Given the description of an element on the screen output the (x, y) to click on. 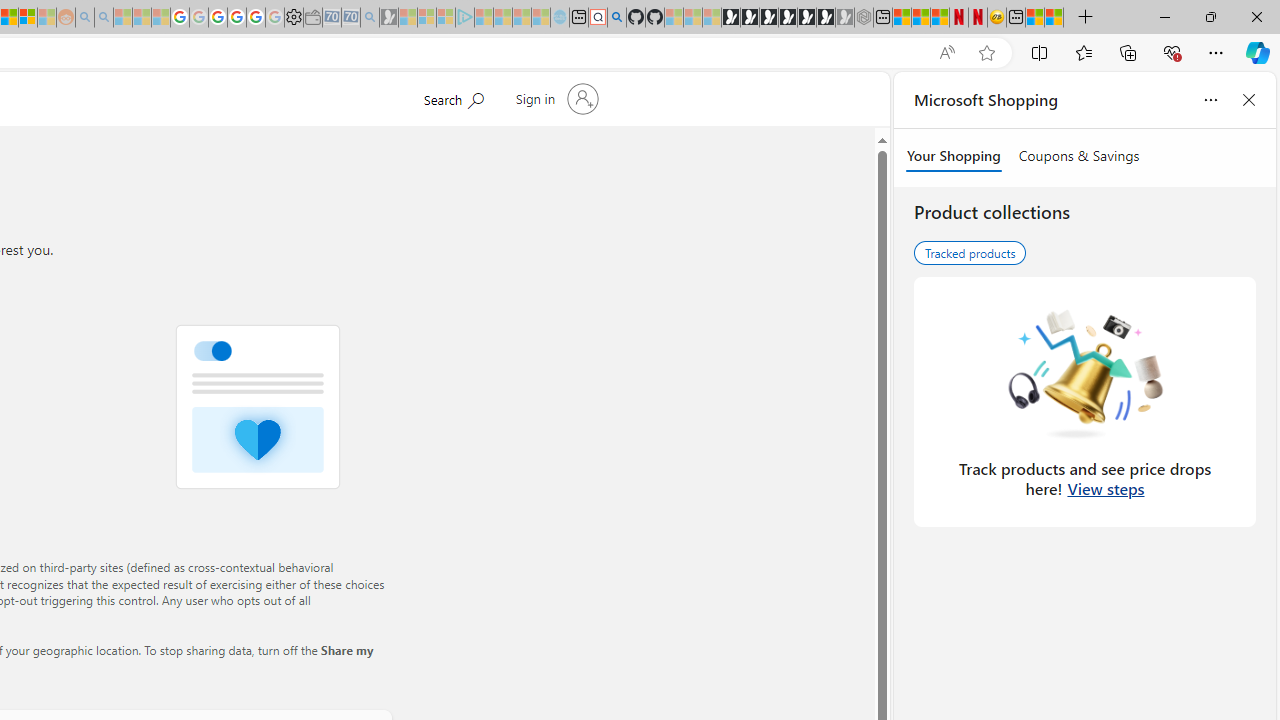
Home | Sky Blue Bikes - Sky Blue Bikes - Sleeping (559, 17)
Play Free Online Games | Games from Microsoft Start (730, 17)
Wallet - Sleeping (312, 17)
Search Microsoft.com (452, 97)
